Given the description of an element on the screen output the (x, y) to click on. 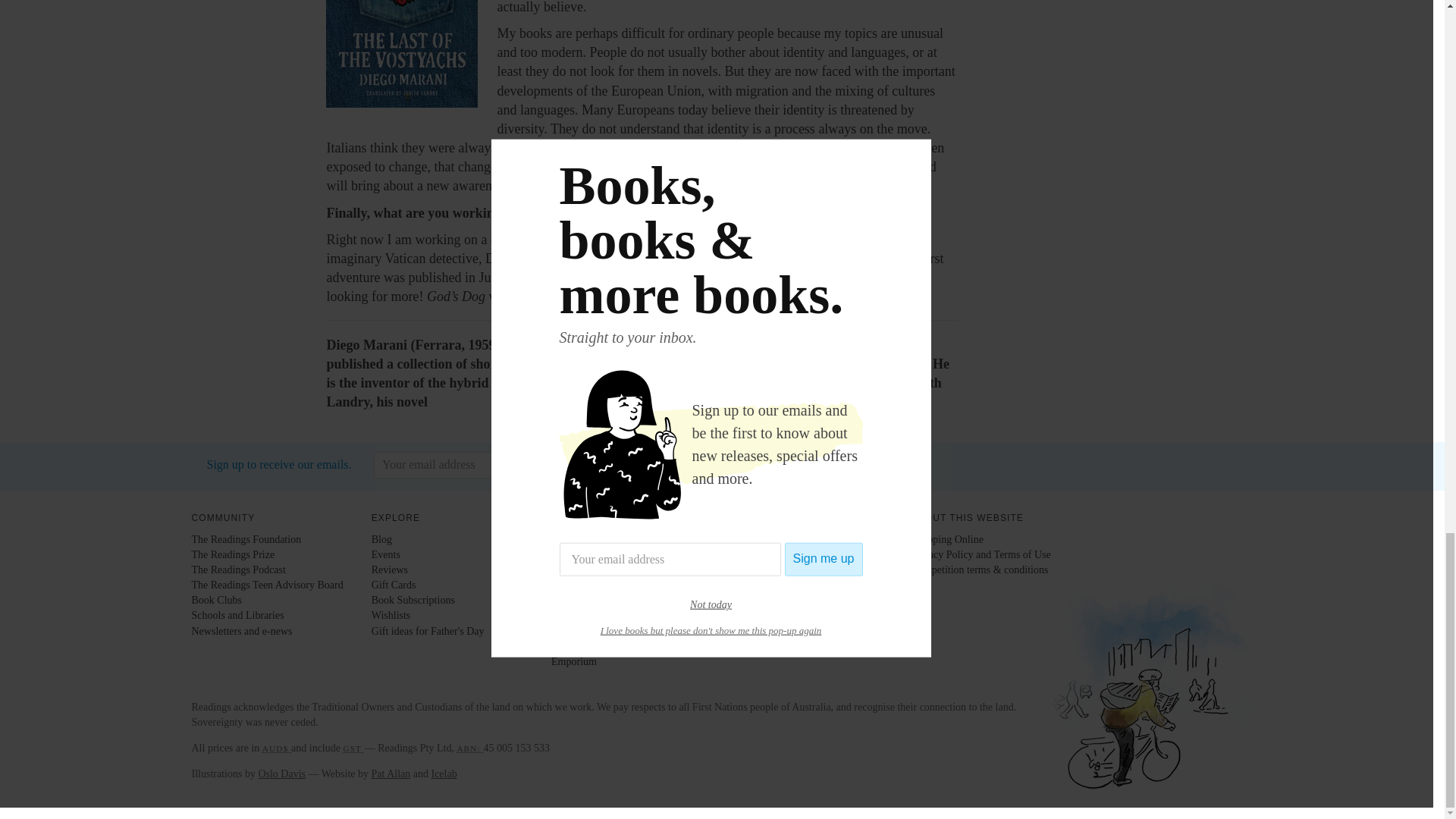
Australian Dollars (276, 747)
Australian Business Number (470, 747)
Goods and Services Tax (353, 747)
